Given the description of an element on the screen output the (x, y) to click on. 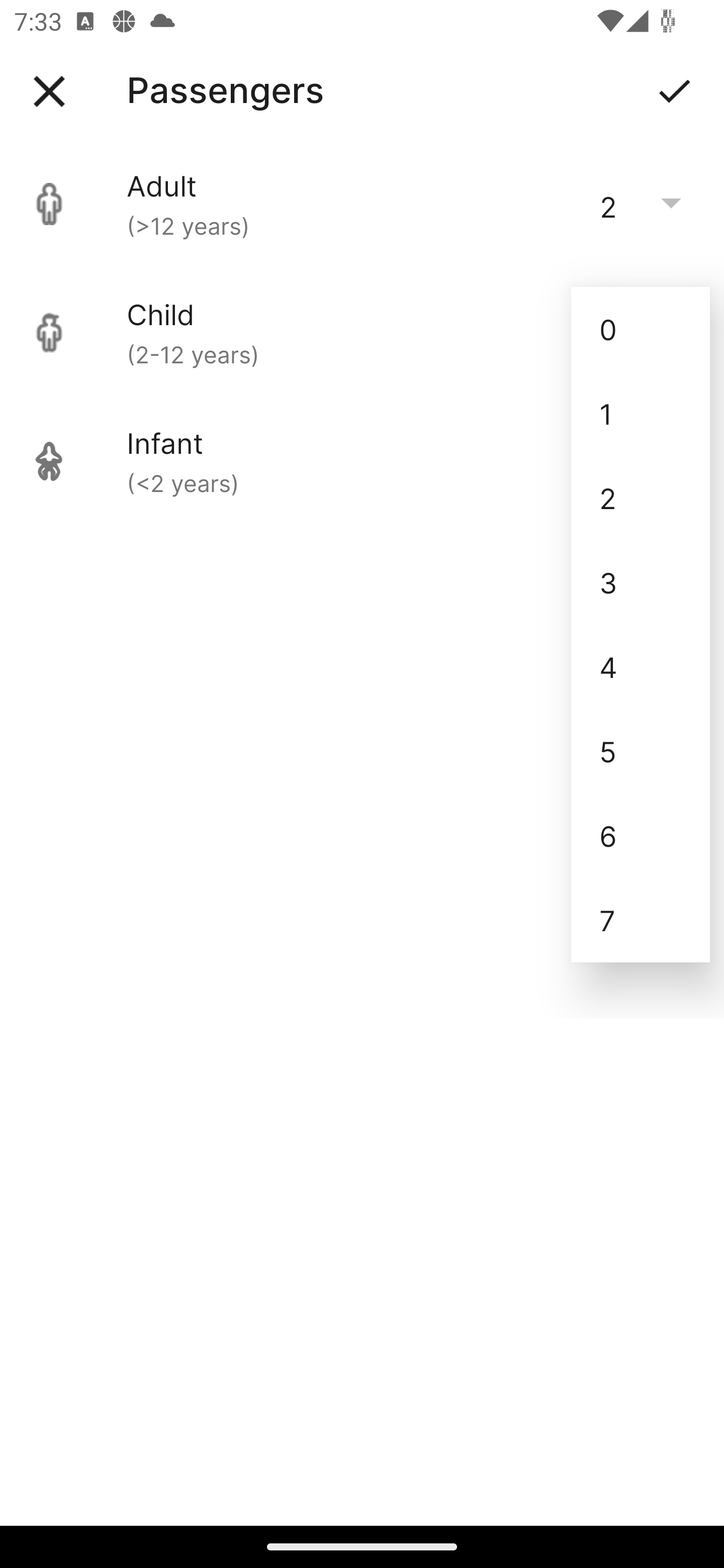
0 (640, 328)
1 (640, 413)
2 (640, 498)
3 (640, 582)
4 (640, 666)
5 (640, 750)
6 (640, 835)
7 (640, 920)
